Given the description of an element on the screen output the (x, y) to click on. 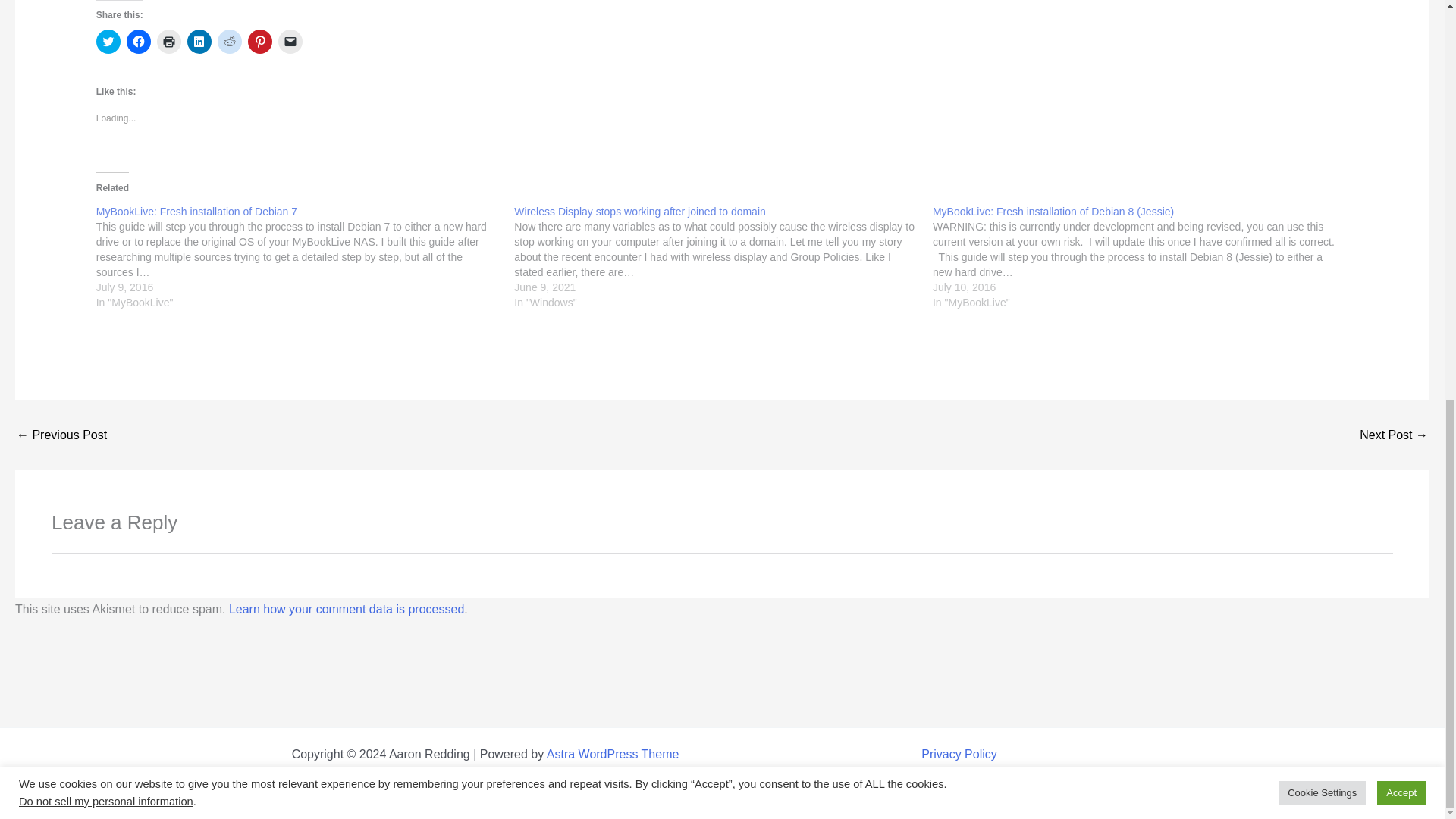
Click to share on Twitter (108, 41)
MyBookLive: Fresh installation of Debian 7 (196, 211)
Click to share on Pinterest (259, 41)
Click to share on Reddit (228, 41)
Wireless Display stops working after joined to domain (723, 256)
Click to share on Facebook (138, 41)
MyBookLive: Fresh installation of Debian 7 (196, 211)
Click to share on LinkedIn (199, 41)
Click to print (168, 41)
MyBookLive: Fresh installation of Debian 7 (305, 256)
